Given the description of an element on the screen output the (x, y) to click on. 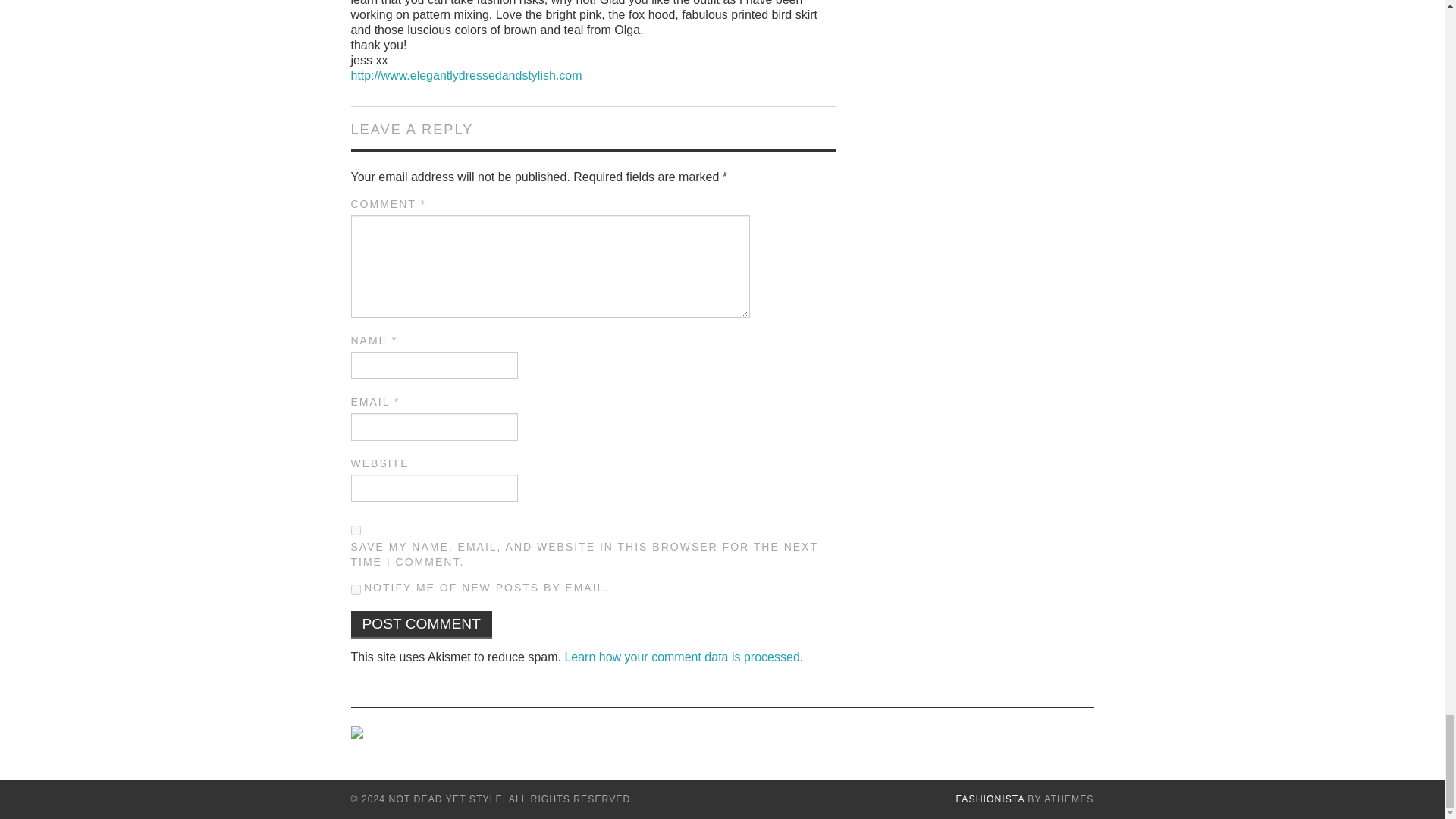
subscribe (354, 589)
Post Comment (421, 624)
yes (354, 529)
